Given the description of an element on the screen output the (x, y) to click on. 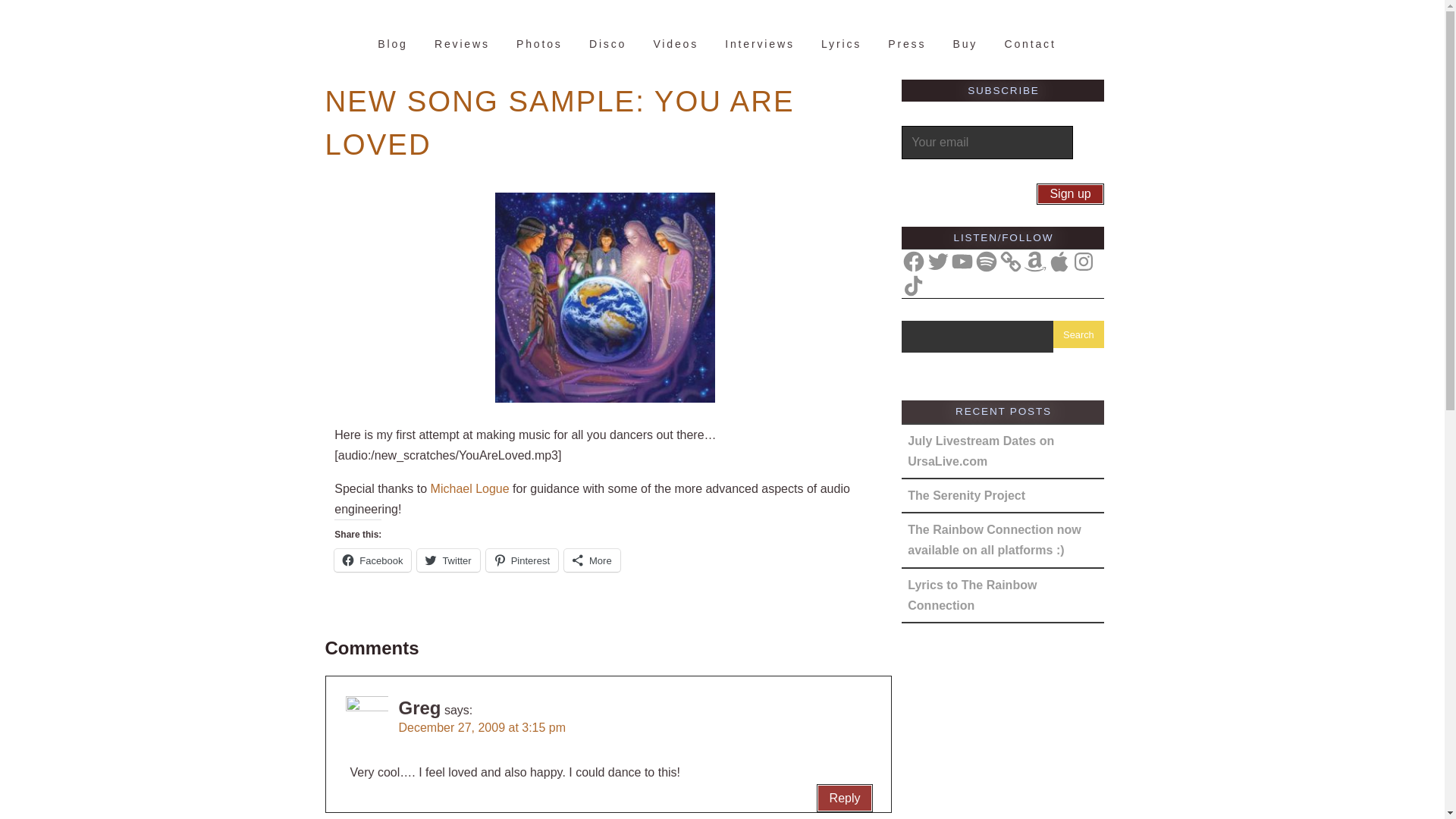
Contact (1029, 43)
Reviews (461, 43)
Lyrics (840, 43)
Spotify (986, 261)
HealingPresence550px (605, 297)
Facebook (372, 559)
Amazon (1034, 261)
Facebook (913, 261)
Click to share on Twitter (447, 559)
Sign up (1069, 193)
December 27, 2009 at 3:15 pm (482, 727)
Search (1077, 334)
Twitter (447, 559)
Michael Logue (469, 488)
NEW SONG SAMPLE: YOU ARE LOVED (558, 123)
